Given the description of an element on the screen output the (x, y) to click on. 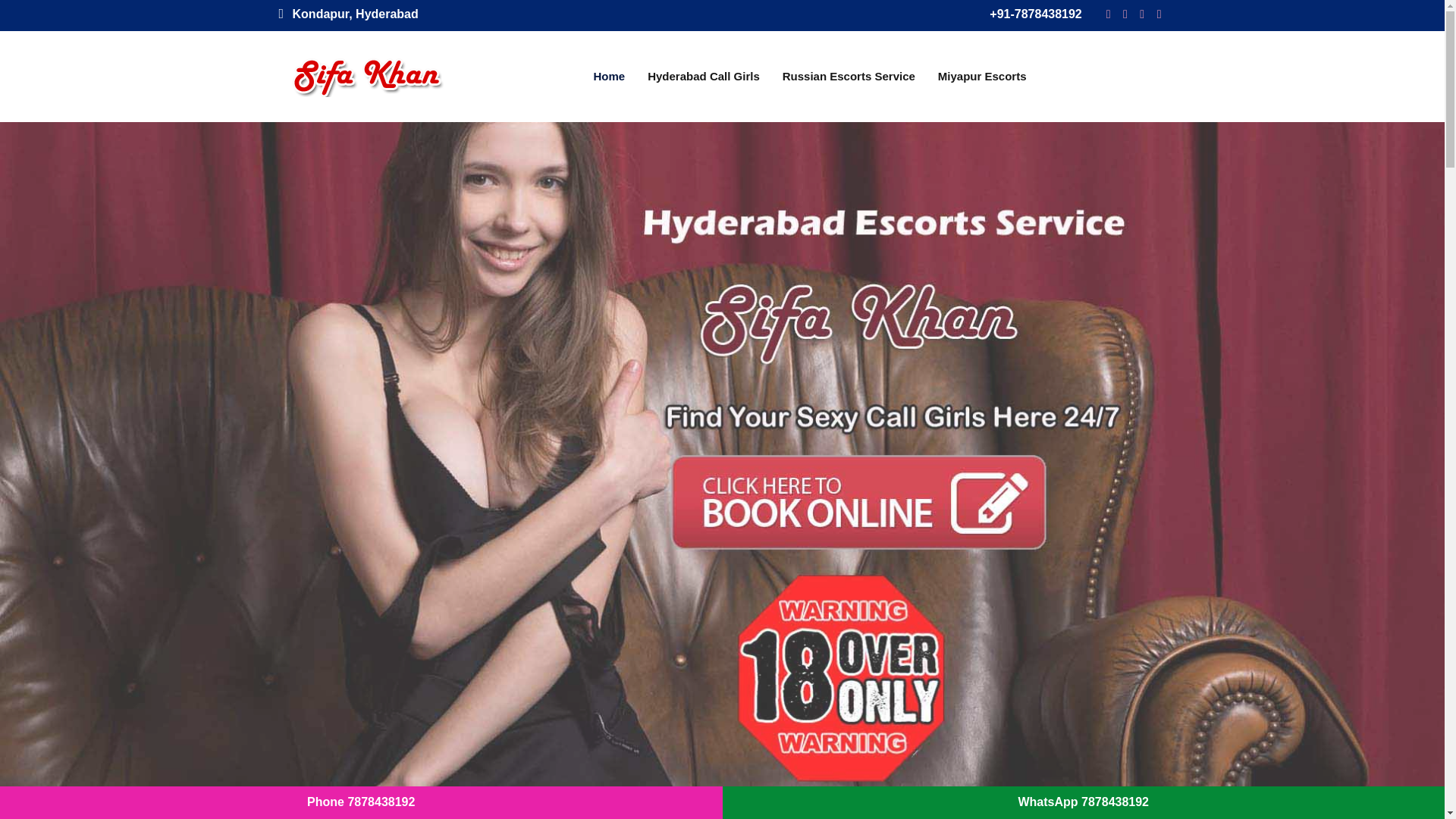
Home (609, 76)
Miyapur Escorts (982, 76)
Kondapur, Hyderabad (349, 14)
Russian Escorts Service (848, 76)
Hyderabad Call Girls (703, 76)
